Given the description of an element on the screen output the (x, y) to click on. 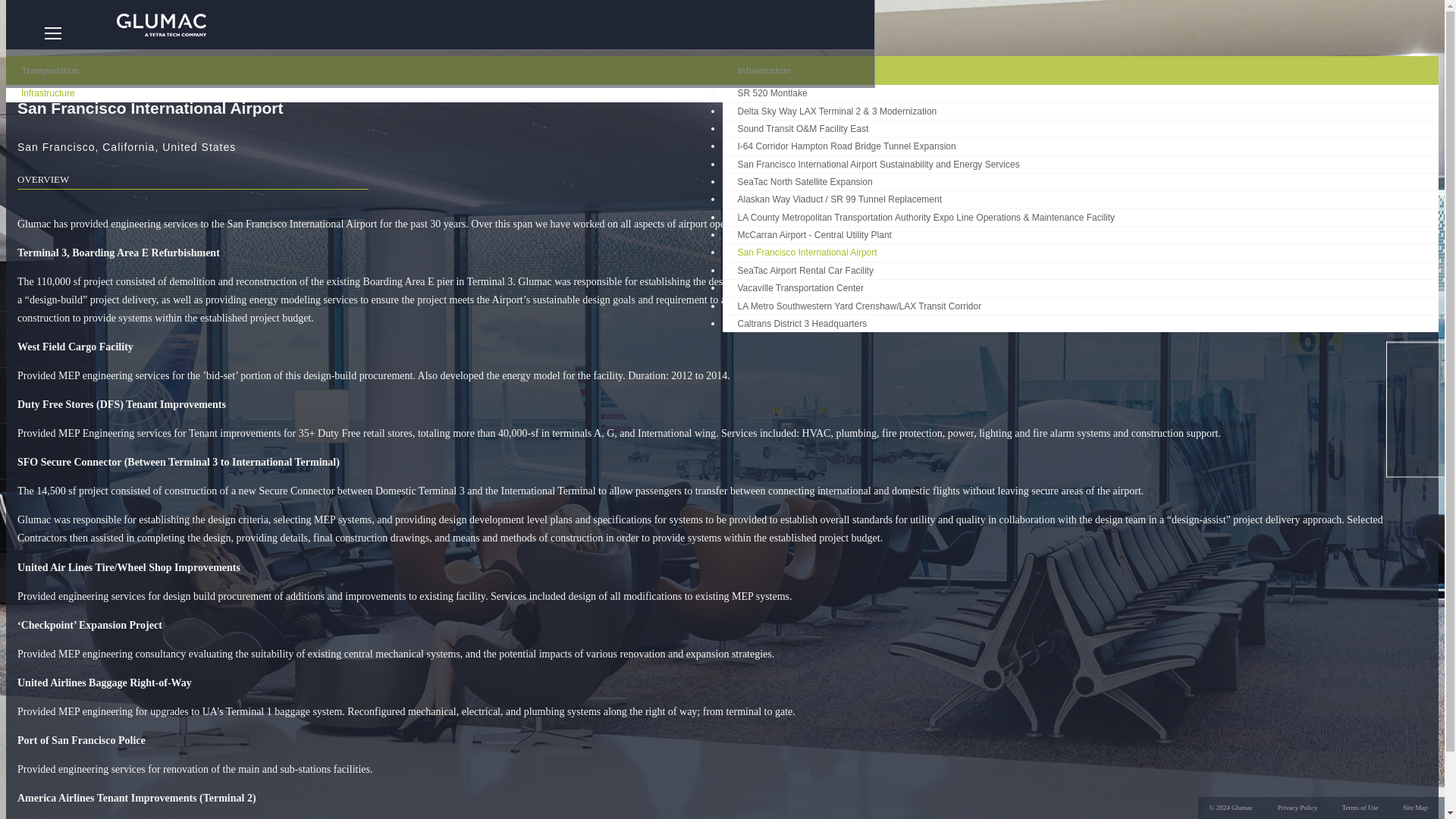
EXPERTISE (235, 24)
MARKETS (372, 24)
Commercial (336, 60)
SeaTac North Satellite Expansion (804, 181)
Infrastructure (47, 92)
CAREERS (646, 24)
Careers At Glumac (623, 60)
I-64 Corridor Hampton Road Bridge Tunnel Expansion (846, 146)
ABOUT (782, 24)
Sustainability Consulting (224, 60)
